Given the description of an element on the screen output the (x, y) to click on. 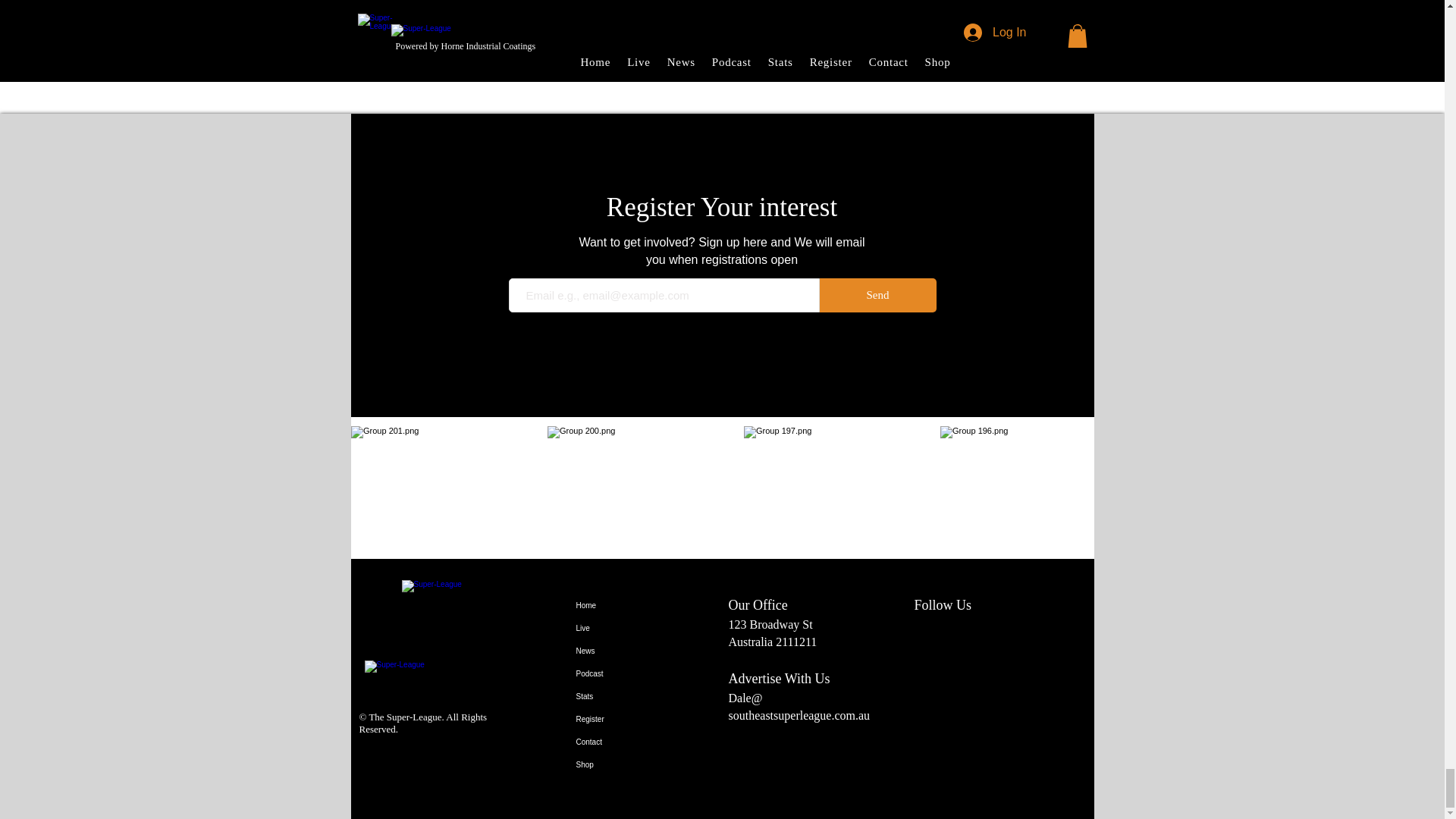
Send (877, 295)
Round 4 Podcast (475, 31)
3 Way Mega Trade (966, 31)
Blockbuster Duo Trade (720, 31)
